Given the description of an element on the screen output the (x, y) to click on. 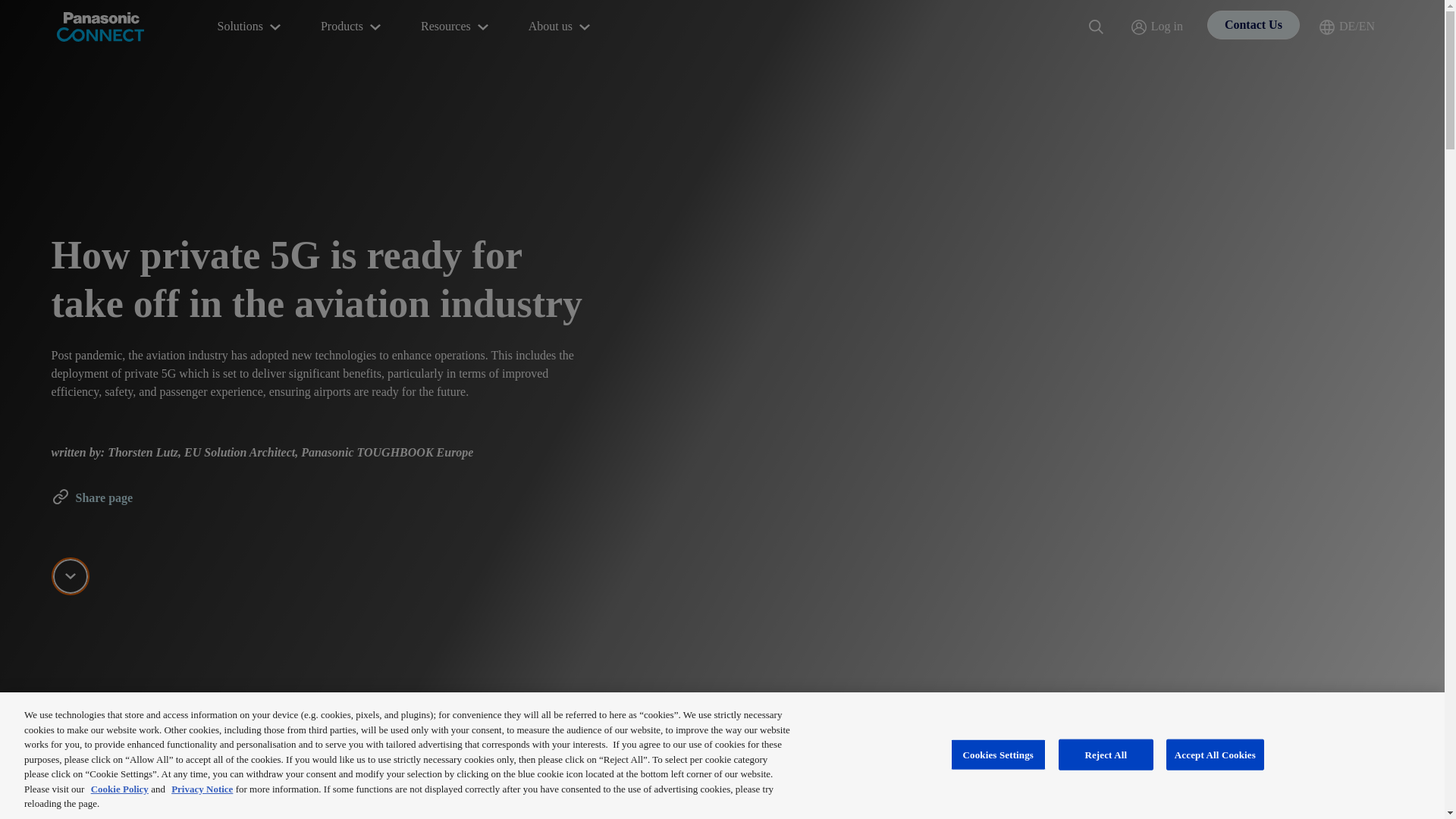
Resources (455, 26)
Products (352, 26)
About us (560, 26)
Solutions (250, 26)
